Given the description of an element on the screen output the (x, y) to click on. 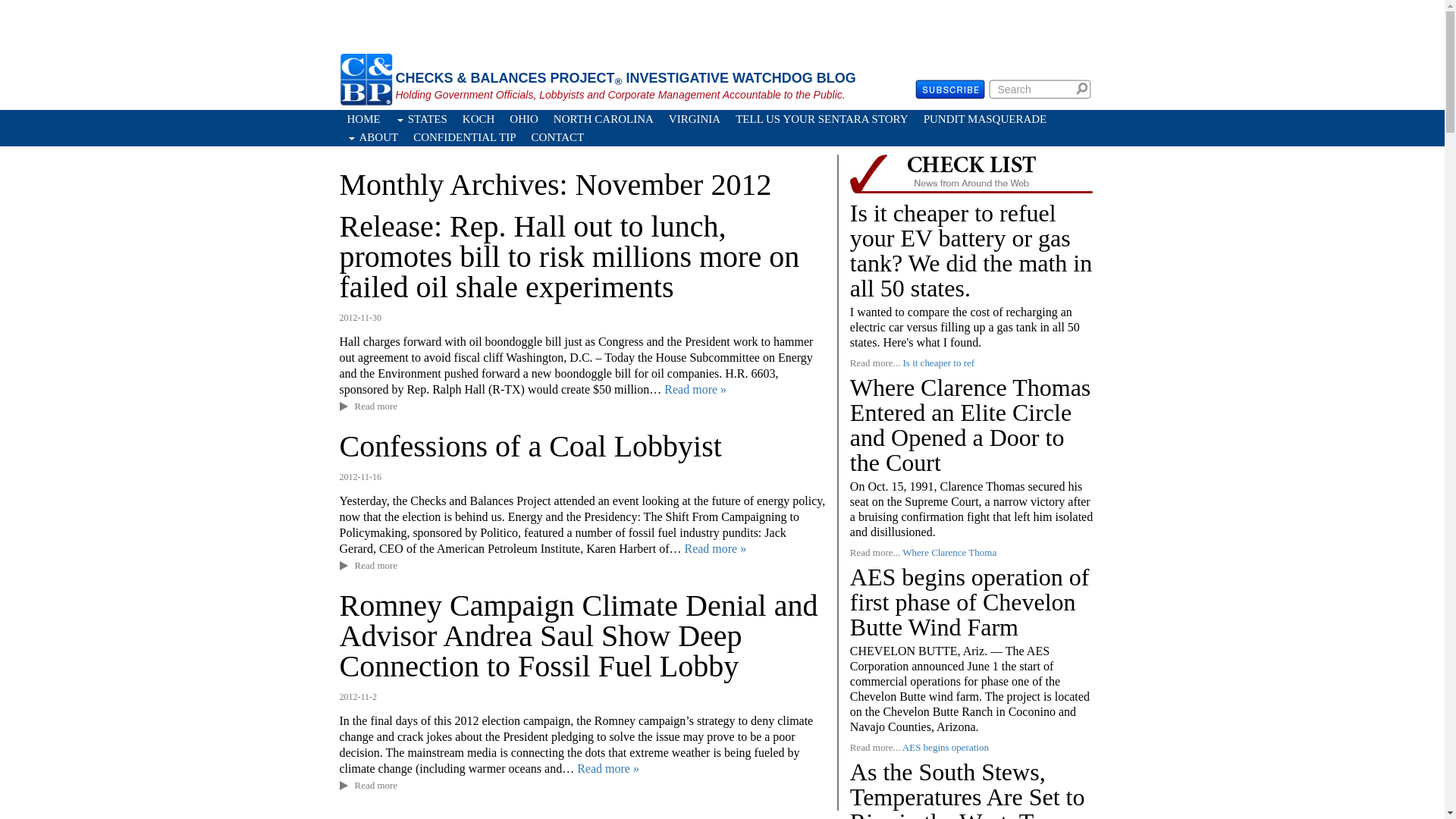
KOCH (478, 118)
Read more (376, 405)
STATES (421, 118)
TELL US YOUR SENTARA STORY (821, 118)
Search (1084, 88)
HOME (363, 118)
Read Confessions of a Coal Lobbyist (714, 548)
CONFIDENTIAL TIP (464, 136)
PUNDIT MASQUERADE (984, 118)
OHIO (524, 118)
ABOUT (372, 136)
NORTH CAROLINA (603, 118)
Confessions of a Coal Lobbyist (530, 446)
